Given the description of an element on the screen output the (x, y) to click on. 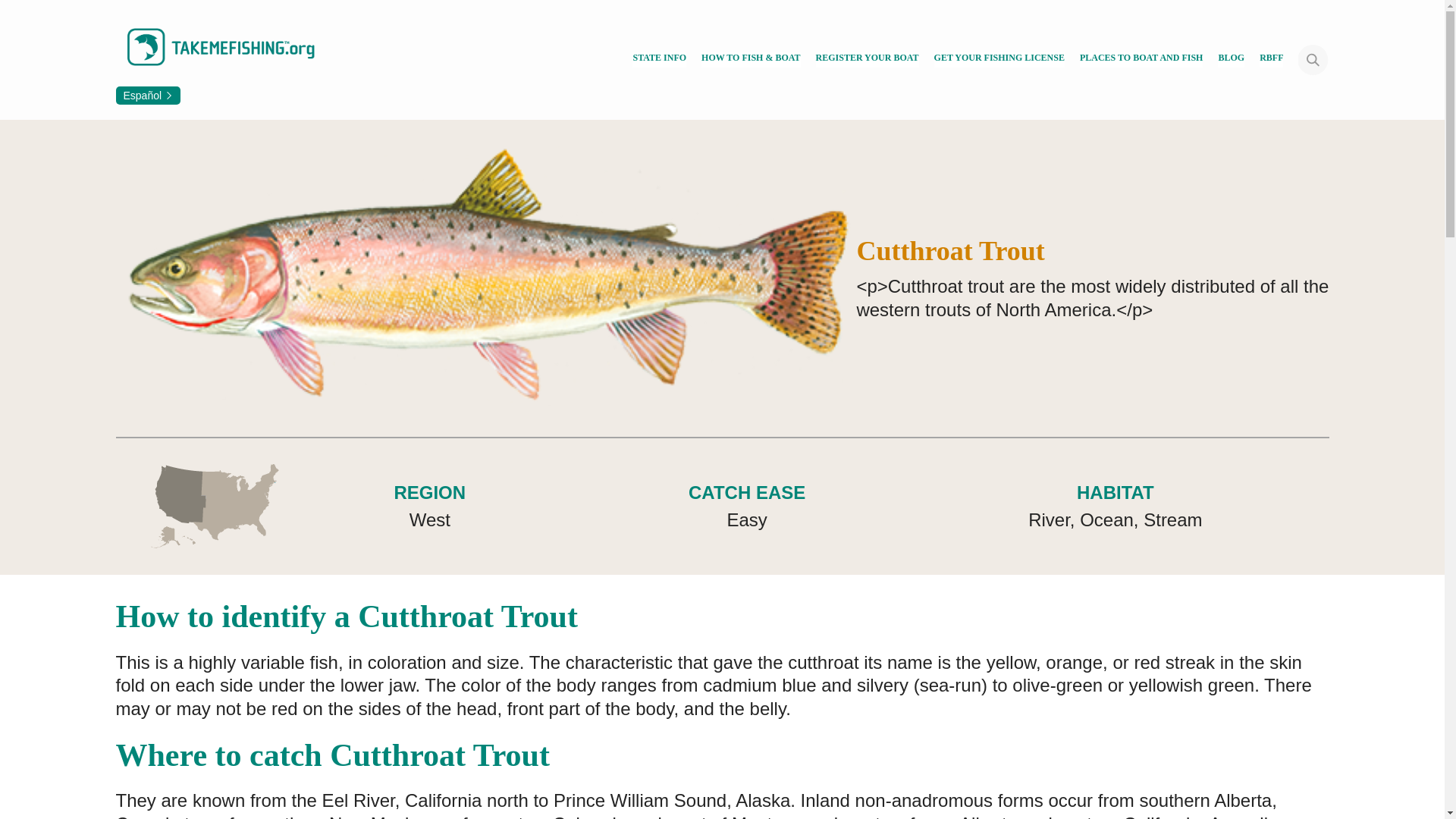
BLOG (1230, 59)
Places To Boat And Fish (1142, 59)
Register Your Boat (866, 59)
Blog (1230, 59)
RBFF (1270, 59)
RBFF (1270, 59)
Get Your Fishing License (999, 59)
PLACES TO BOAT AND FISH (1142, 59)
REGISTER YOUR BOAT (866, 59)
GET YOUR FISHING LICENSE (999, 59)
